Given the description of an element on the screen output the (x, y) to click on. 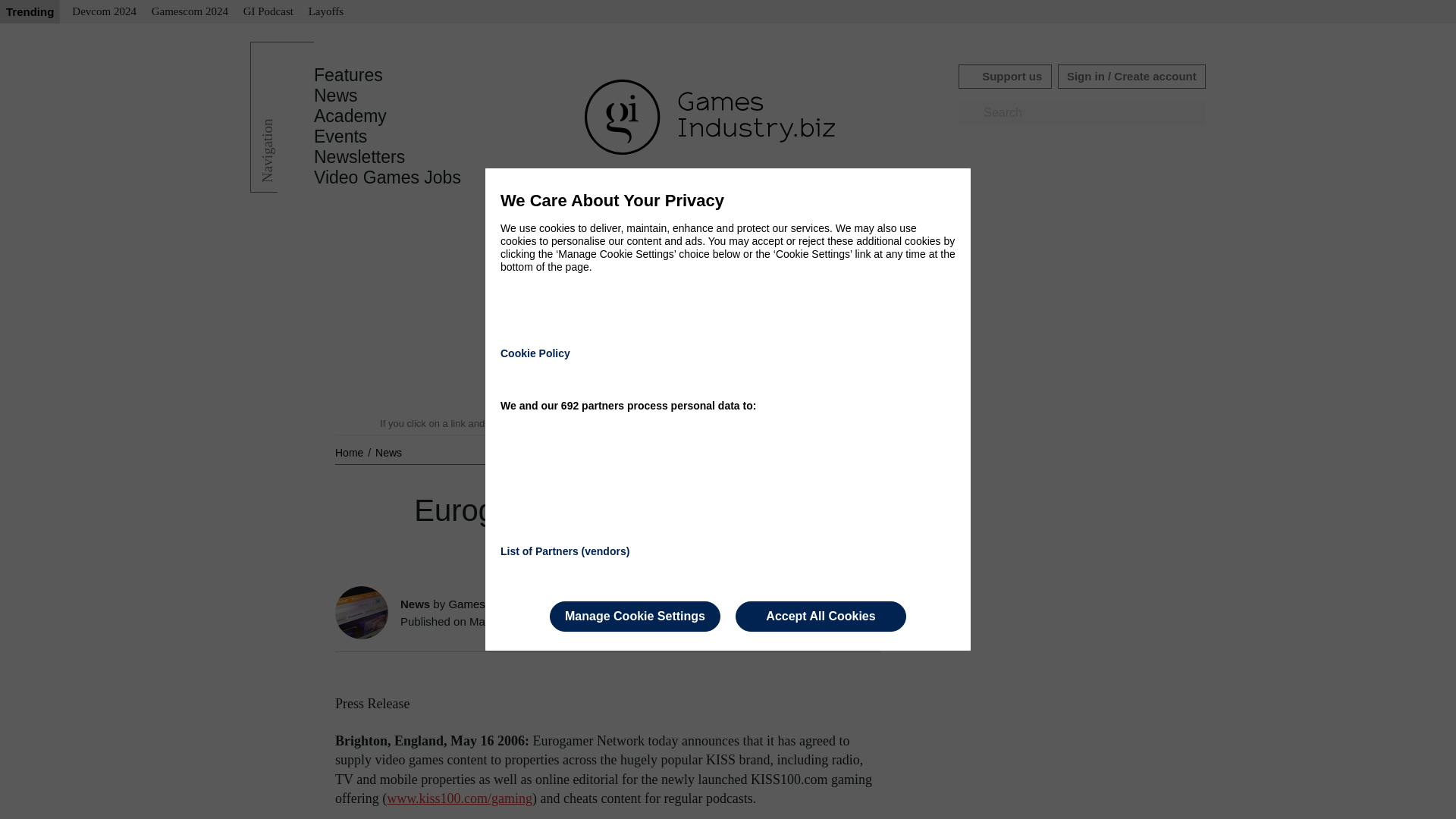
Home (350, 452)
GI Podcast (268, 11)
GamesIndustry.biz (494, 603)
Gamescom 2024 (189, 11)
Layoffs (325, 11)
Layoffs (325, 11)
Devcom 2024 (103, 11)
Newsletters (359, 157)
Support us (1004, 75)
Features (348, 75)
